Given the description of an element on the screen output the (x, y) to click on. 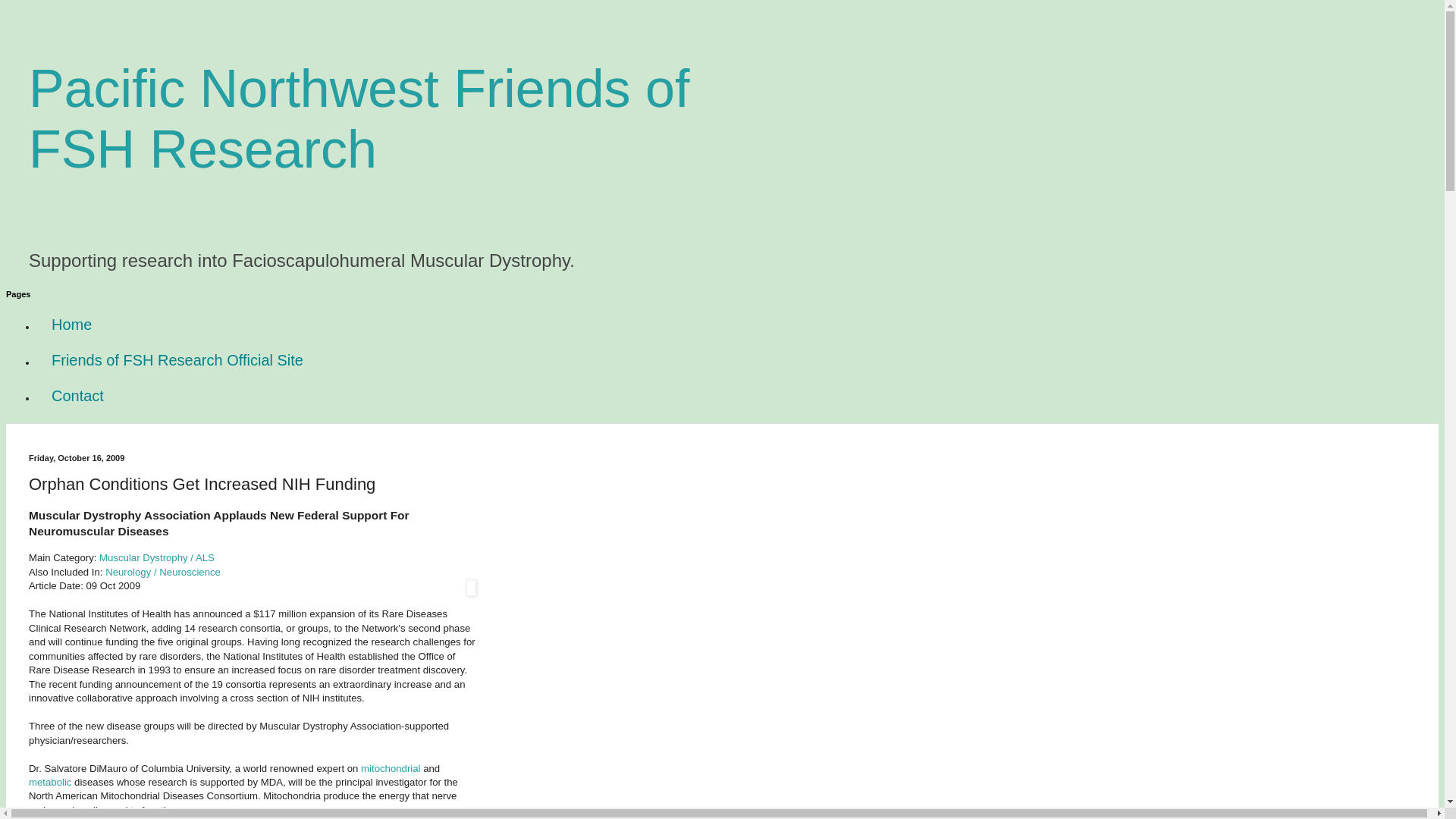
Pacific Northwest Friends of FSH Research (358, 118)
Contact (77, 396)
mitochondrial (392, 767)
Home (71, 325)
metabolic (51, 781)
Friends of FSH Research Official Site (177, 360)
